Given the description of an element on the screen output the (x, y) to click on. 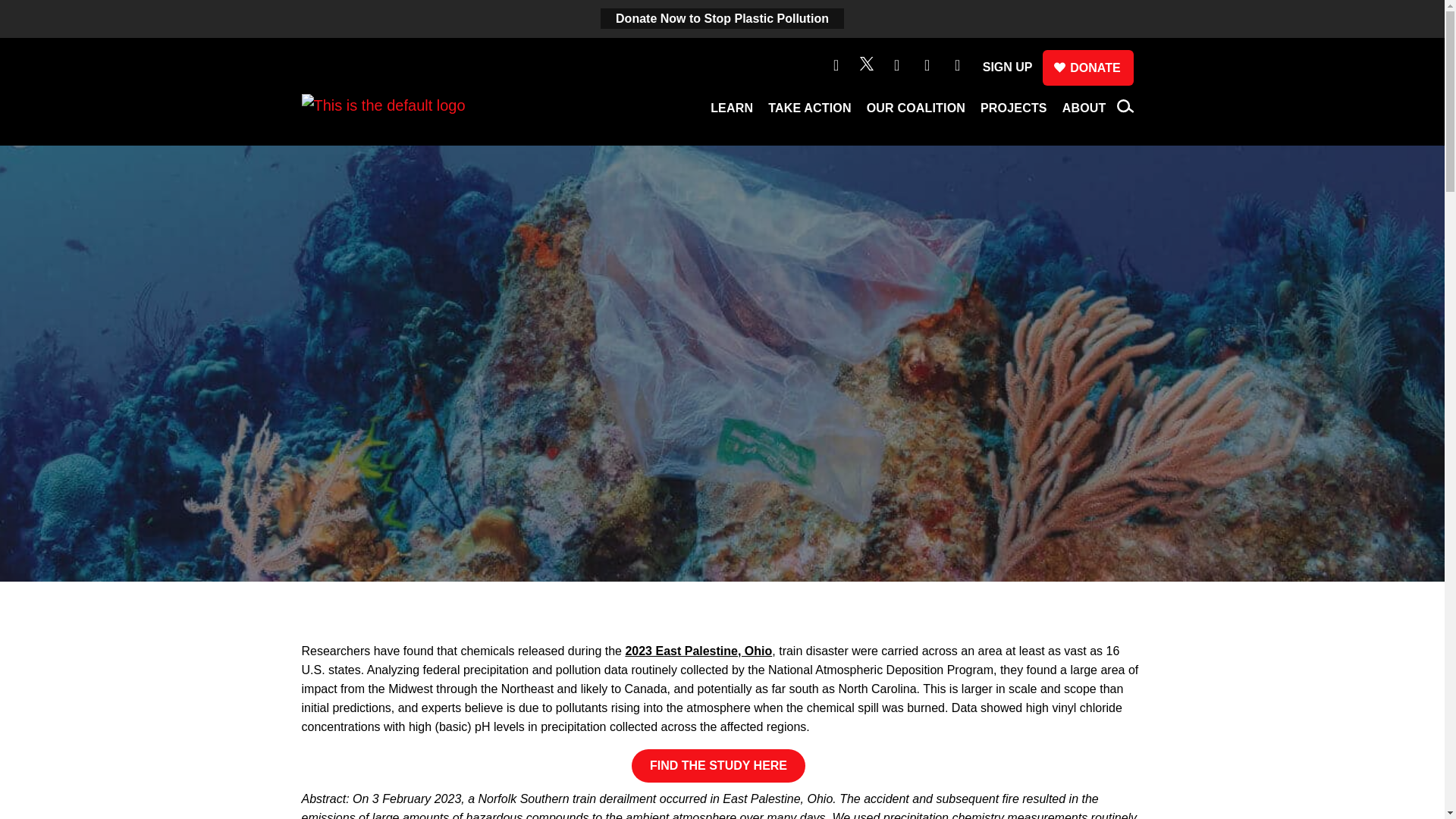
Donate Now to Stop Plastic Pollution (721, 18)
SIGN UP (1007, 66)
